Given the description of an element on the screen output the (x, y) to click on. 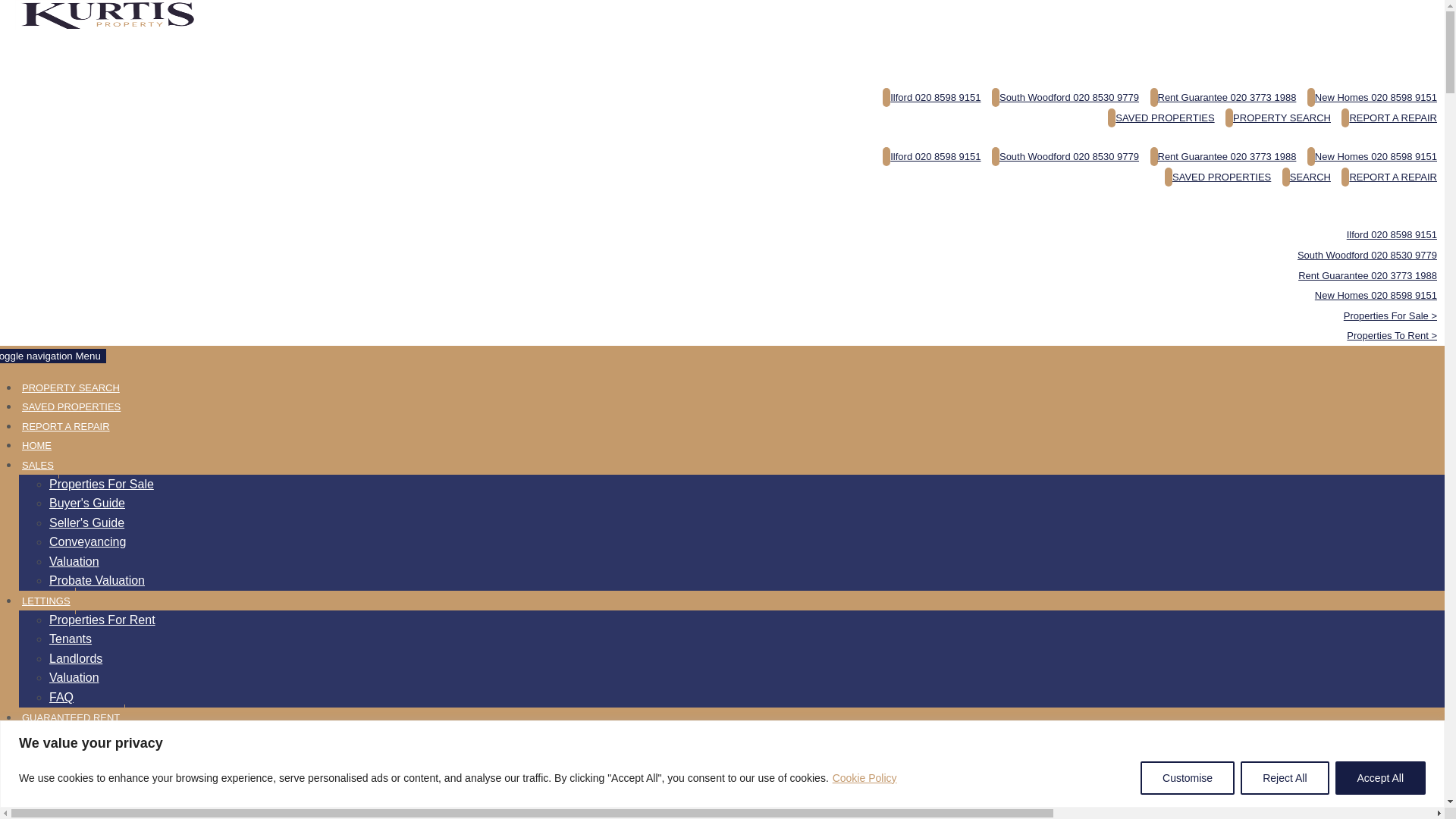
Ilford 020 8598 9151 (930, 97)
New Homes 020 8598 9151 (1375, 295)
South Woodford 020 8530 9779 (1367, 255)
Rent Guarantee 020 3773 1988 (1222, 156)
PROPERTY SEARCH (1277, 117)
SAVED PROPERTIES (1161, 117)
New Homes 020 8598 9151 (1372, 156)
South Woodford 020 8530 9779 (1064, 97)
SAVED PROPERTIES (1217, 176)
Customise (1187, 777)
REPORT A REPAIR (1388, 117)
Rent Guarantee 020 3773 1988 (1222, 97)
South Woodford 020 8530 9779 (1064, 156)
Rent Guarantee 020 3773 1988 (1367, 275)
New Homes 020 8598 9151 (1372, 97)
